Given the description of an element on the screen output the (x, y) to click on. 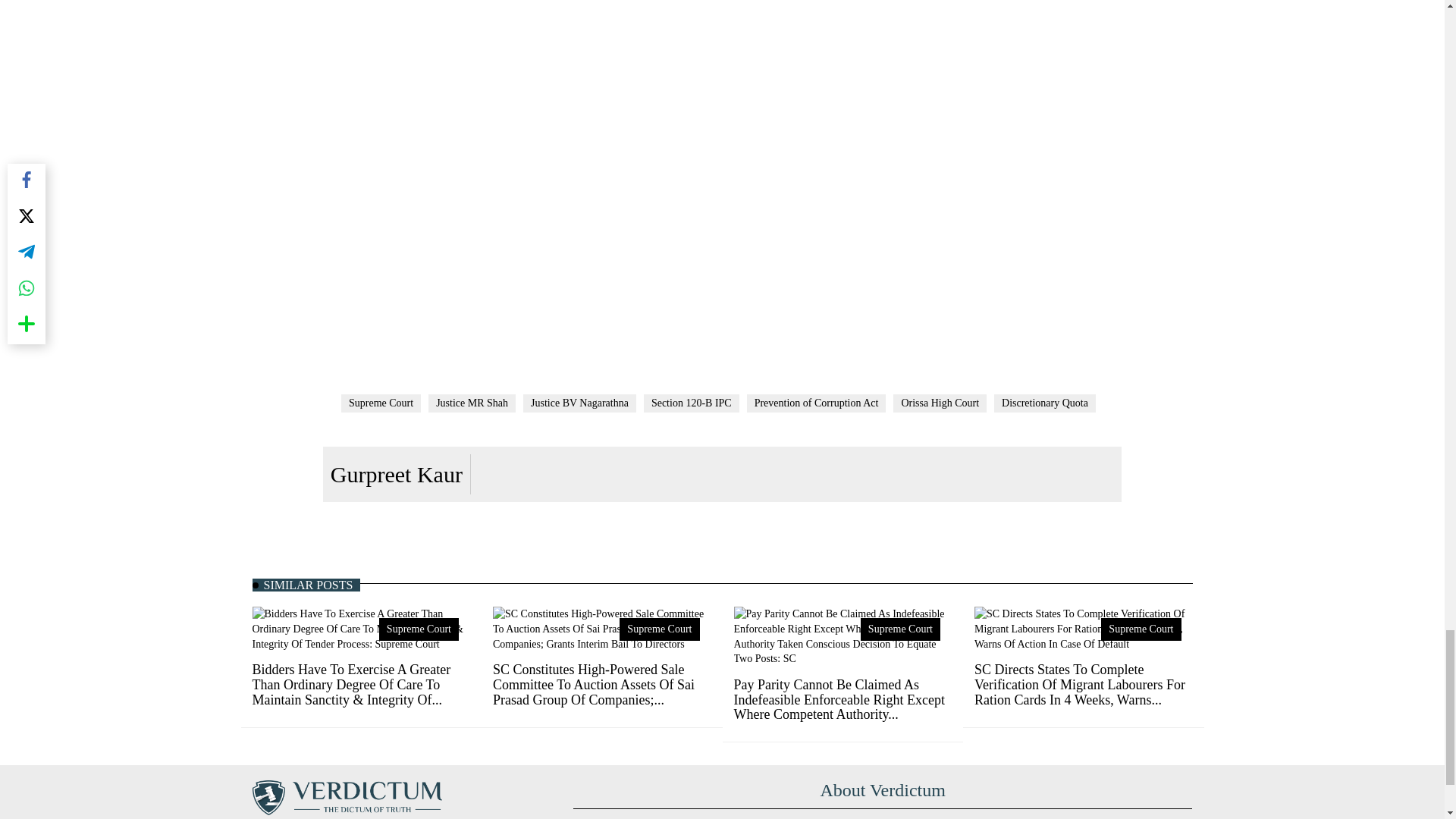
Verdictum (346, 797)
